Given the description of an element on the screen output the (x, y) to click on. 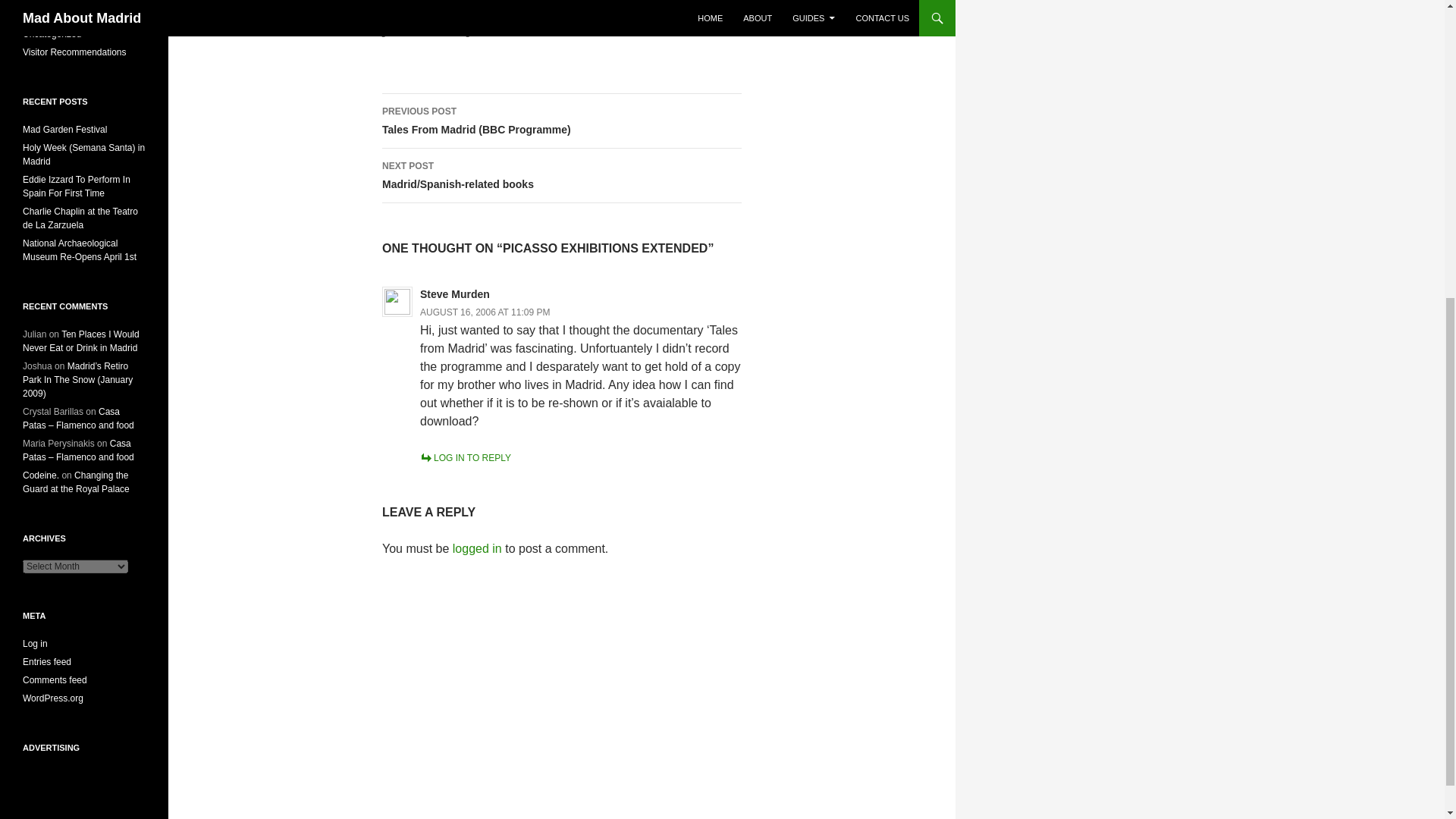
AUGUST 16, 2006 AT 11:09 PM (485, 312)
LOG IN TO REPLY (465, 457)
logged in (477, 548)
